Given the description of an element on the screen output the (x, y) to click on. 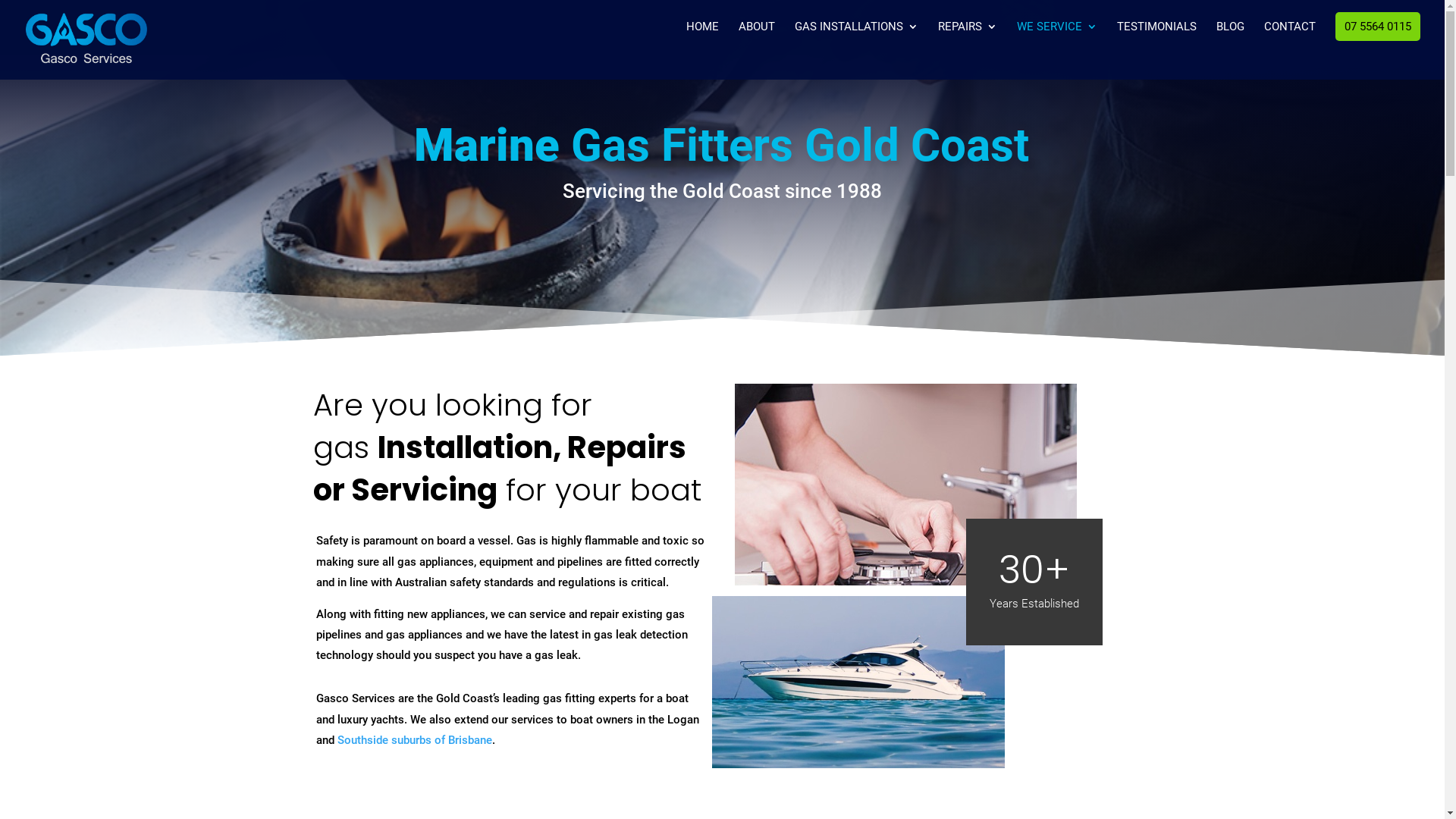
07 5564 0115 Element type: text (1377, 26)
CONTACT Element type: text (1289, 50)
Southside suburbs of Brisbane Element type: text (413, 739)
WE SERVICE Element type: text (1056, 50)
GAS INSTALLATIONS Element type: text (856, 50)
ABOUT Element type: text (756, 50)
TESTIMONIALS Element type: text (1156, 50)
REPAIRS Element type: text (967, 50)
BLOG Element type: text (1230, 50)
HOME Element type: text (702, 50)
